Given the description of an element on the screen output the (x, y) to click on. 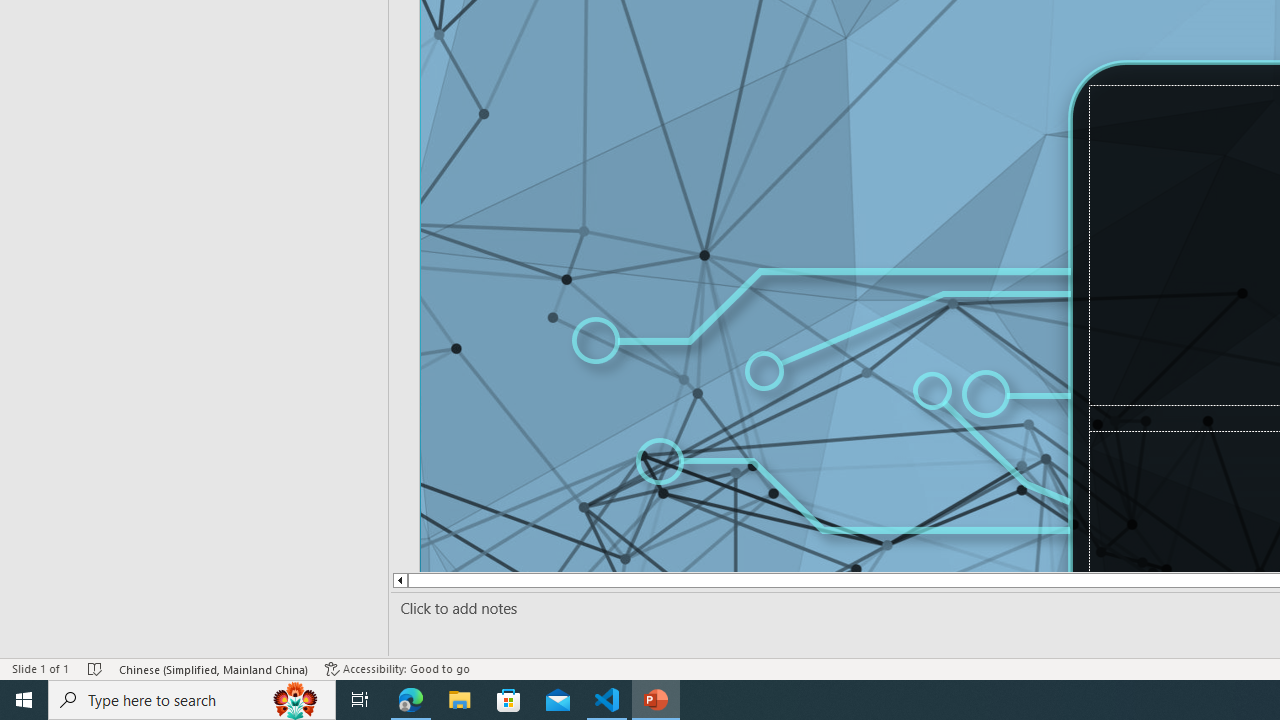
Decorative (1044, 402)
